Given the description of an element on the screen output the (x, y) to click on. 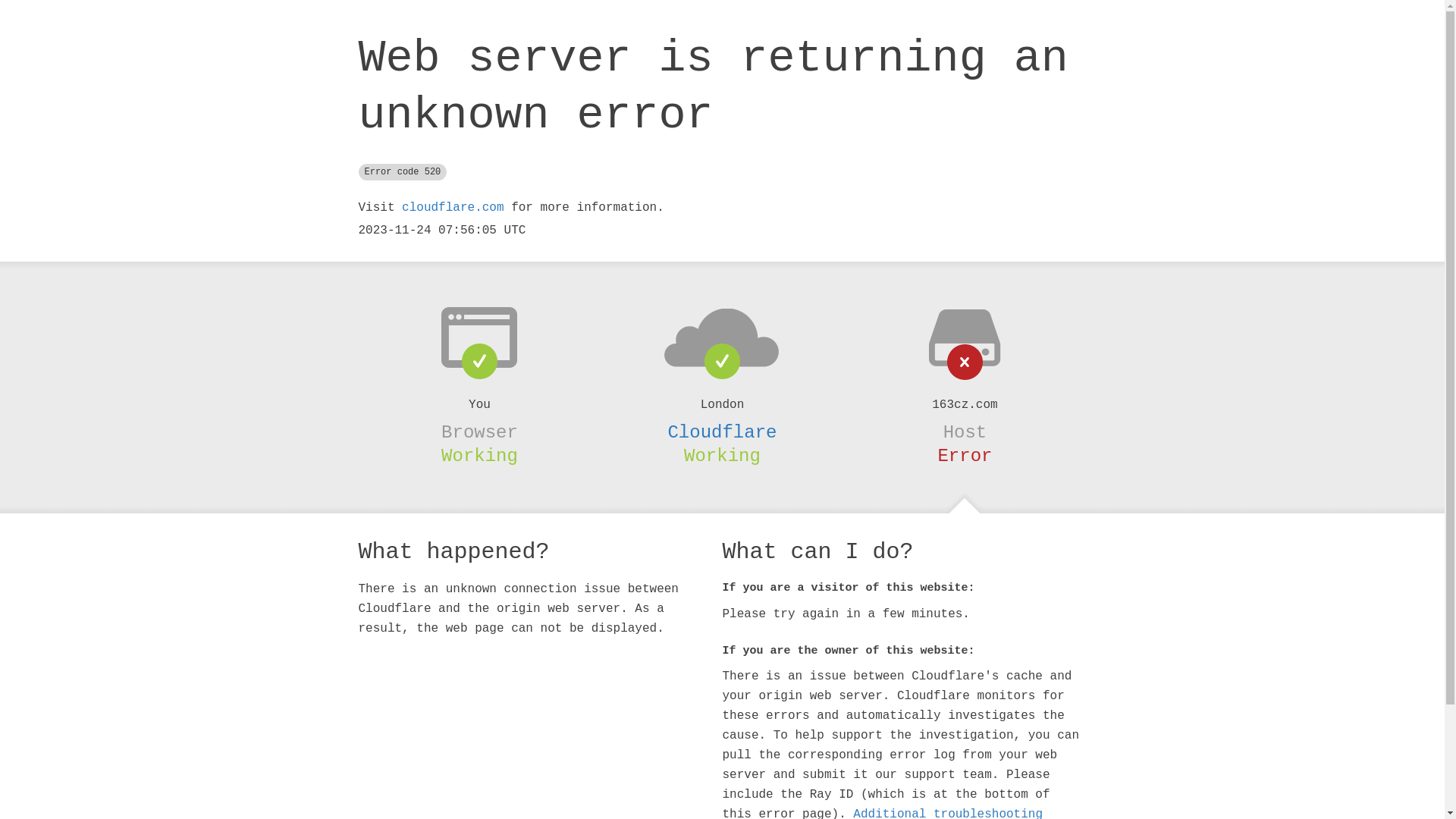
Cloudflare Element type: text (721, 432)
cloudflare.com Element type: text (452, 207)
